Given the description of an element on the screen output the (x, y) to click on. 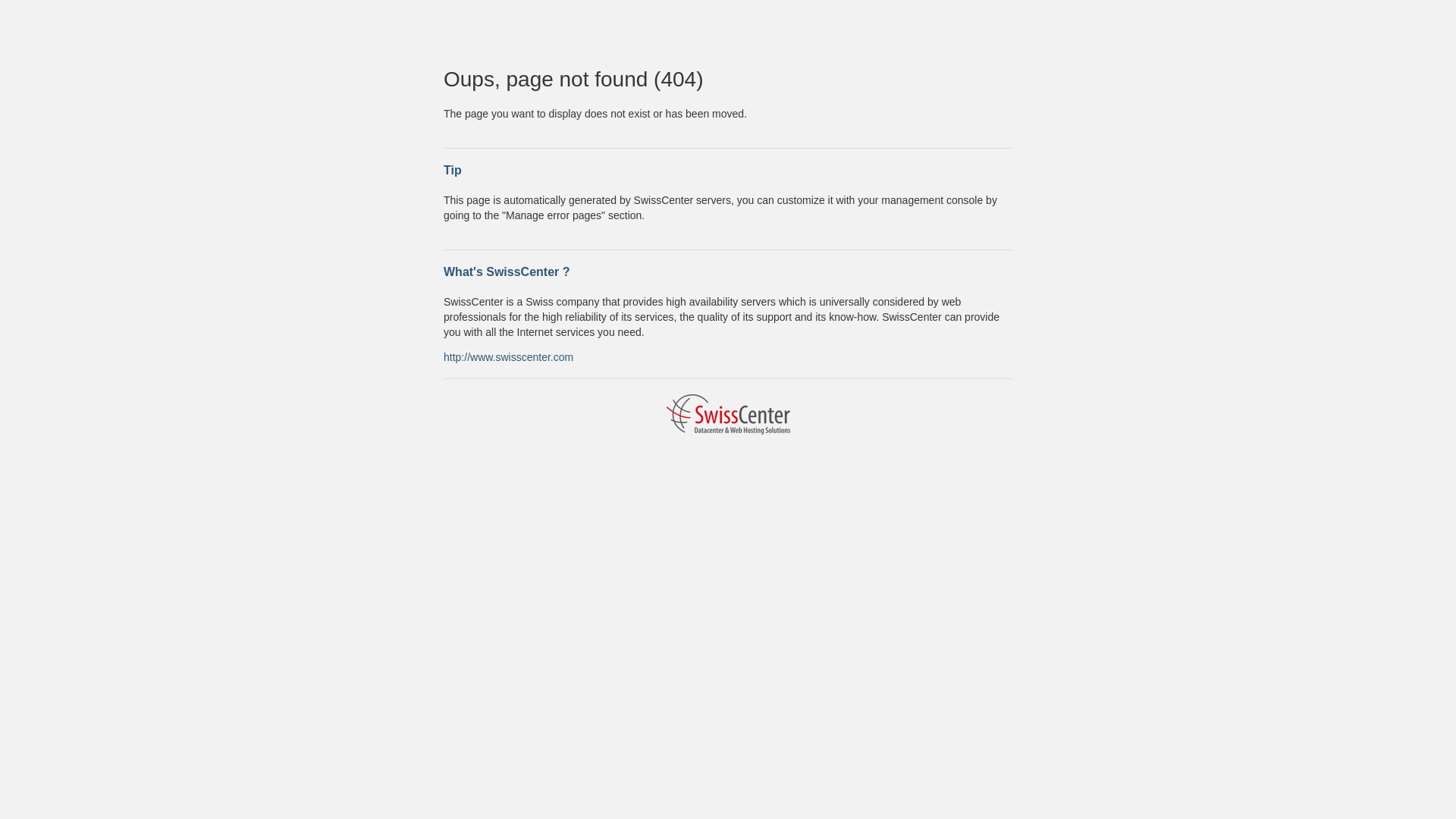
http://www.swisscenter.com Element type: text (508, 356)
